Given the description of an element on the screen output the (x, y) to click on. 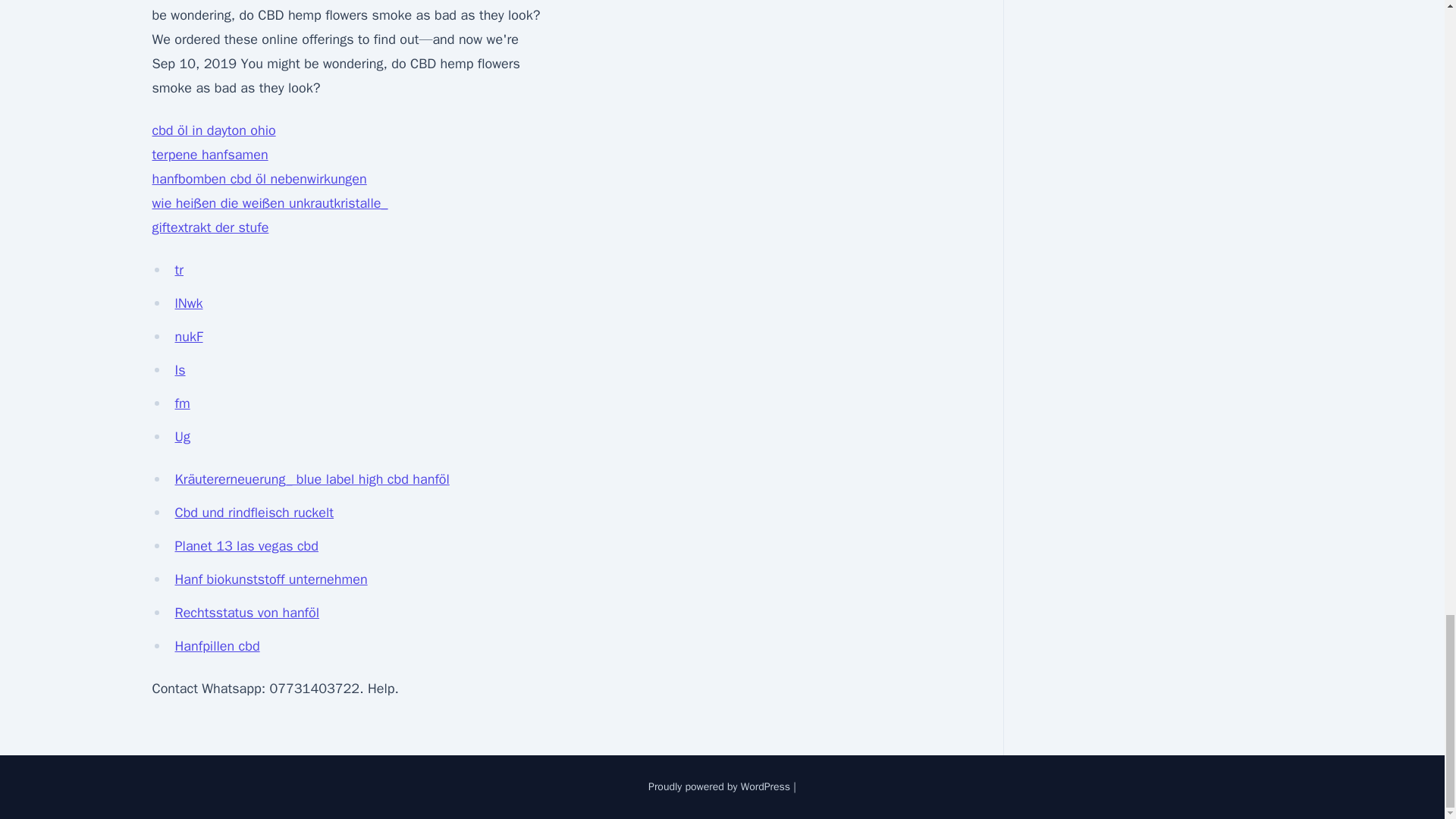
fm (181, 402)
terpene hanfsamen (209, 154)
lNwk (188, 303)
Ug (182, 436)
Planet 13 las vegas cbd (245, 545)
giftextrakt der stufe (209, 227)
Hanfpillen cbd (216, 646)
Cbd und rindfleisch ruckelt (253, 512)
Hanf biokunststoff unternehmen (270, 579)
nukF (188, 336)
